Given the description of an element on the screen output the (x, y) to click on. 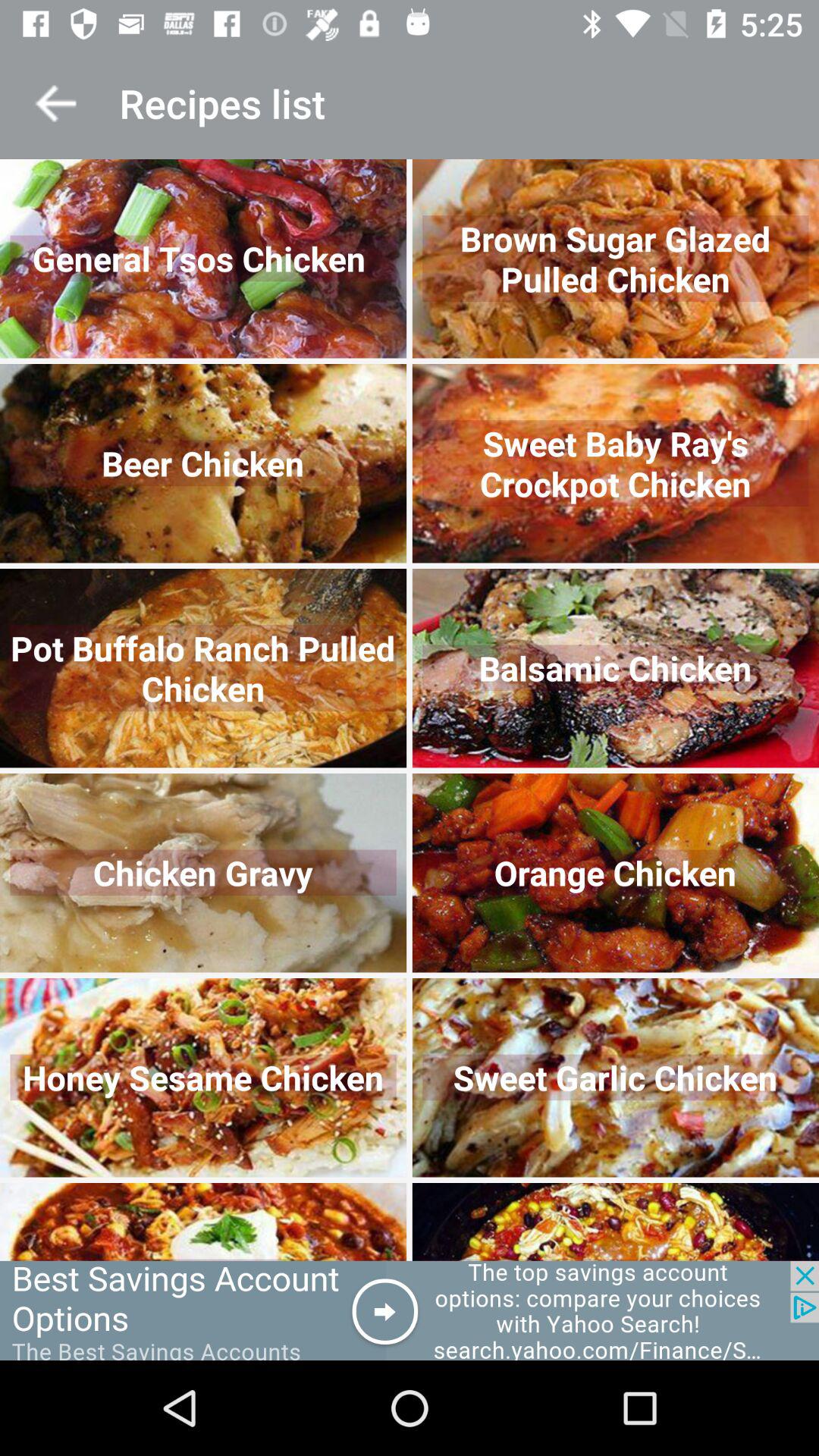
advertisement (409, 1310)
